Given the description of an element on the screen output the (x, y) to click on. 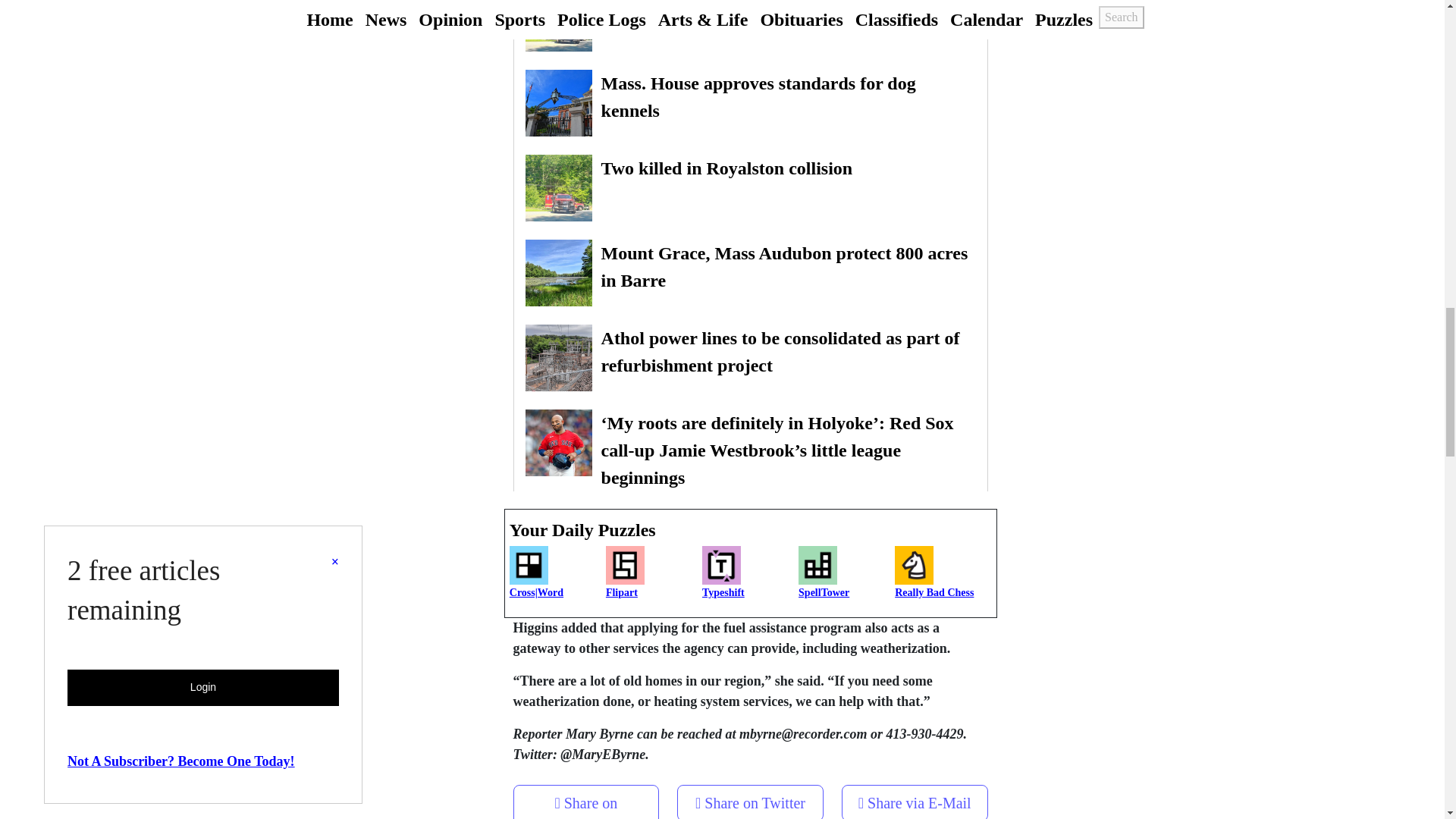
Really Bad Chess (943, 577)
Mount Grace, Mass Audubon protect 800 acres in Barre (750, 272)
Victims identified in two-vehicle crash in Royalston (750, 25)
SpellTower (846, 577)
Share on Twitter (750, 797)
Share on Facebook (586, 808)
Share on Twitter (750, 801)
Mass. House approves standards for dog kennels (750, 102)
Your Daily Puzzles (750, 529)
Share via E-Mail (914, 797)
Typeshift (749, 577)
Share via E-Mail (914, 801)
Two killed in Royalston collision (750, 187)
Flipart (653, 577)
